Given the description of an element on the screen output the (x, y) to click on. 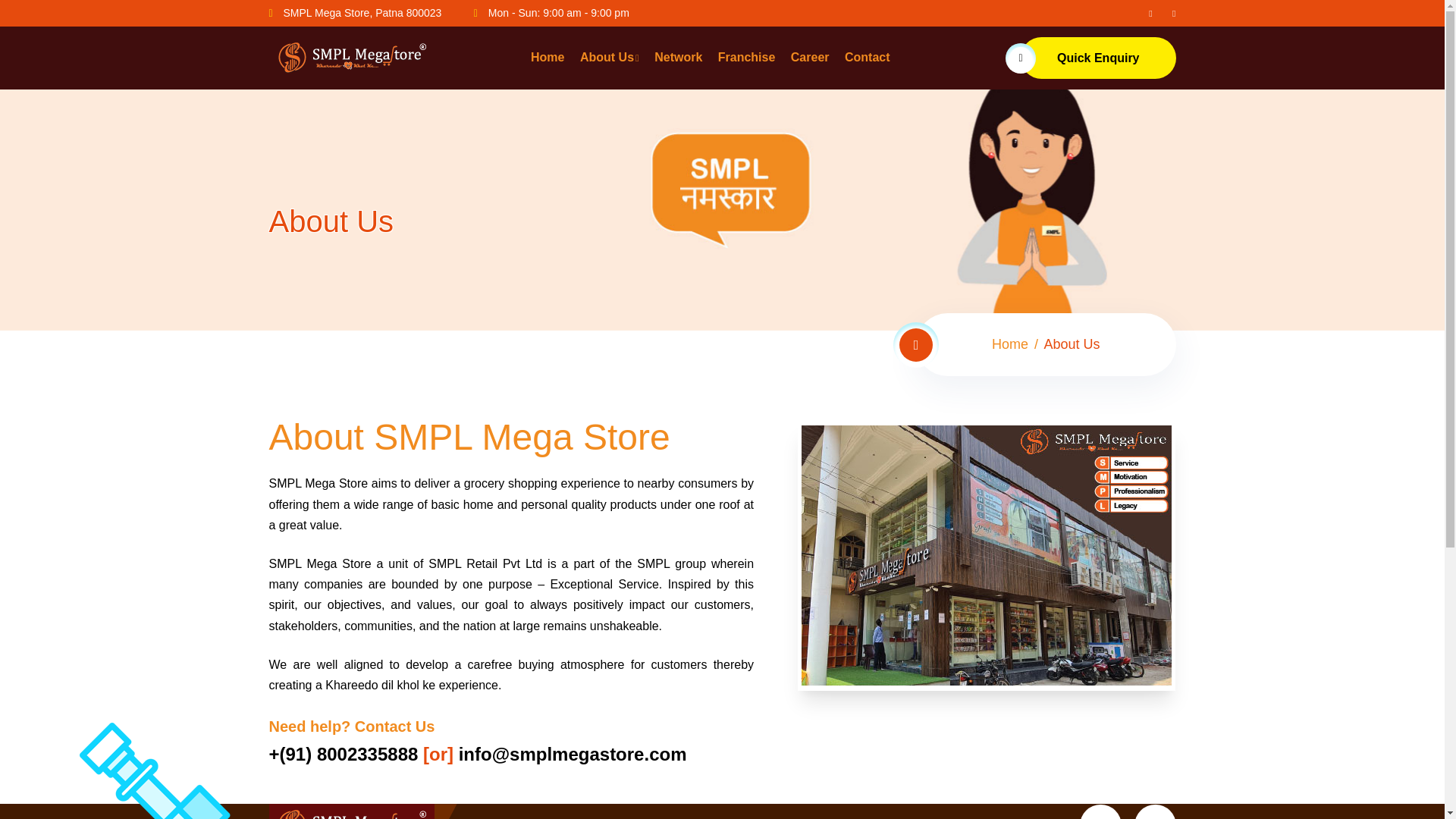
Home (1009, 344)
Quick Enquiry (1097, 57)
About Us (609, 57)
Franchise (746, 57)
